Given the description of an element on the screen output the (x, y) to click on. 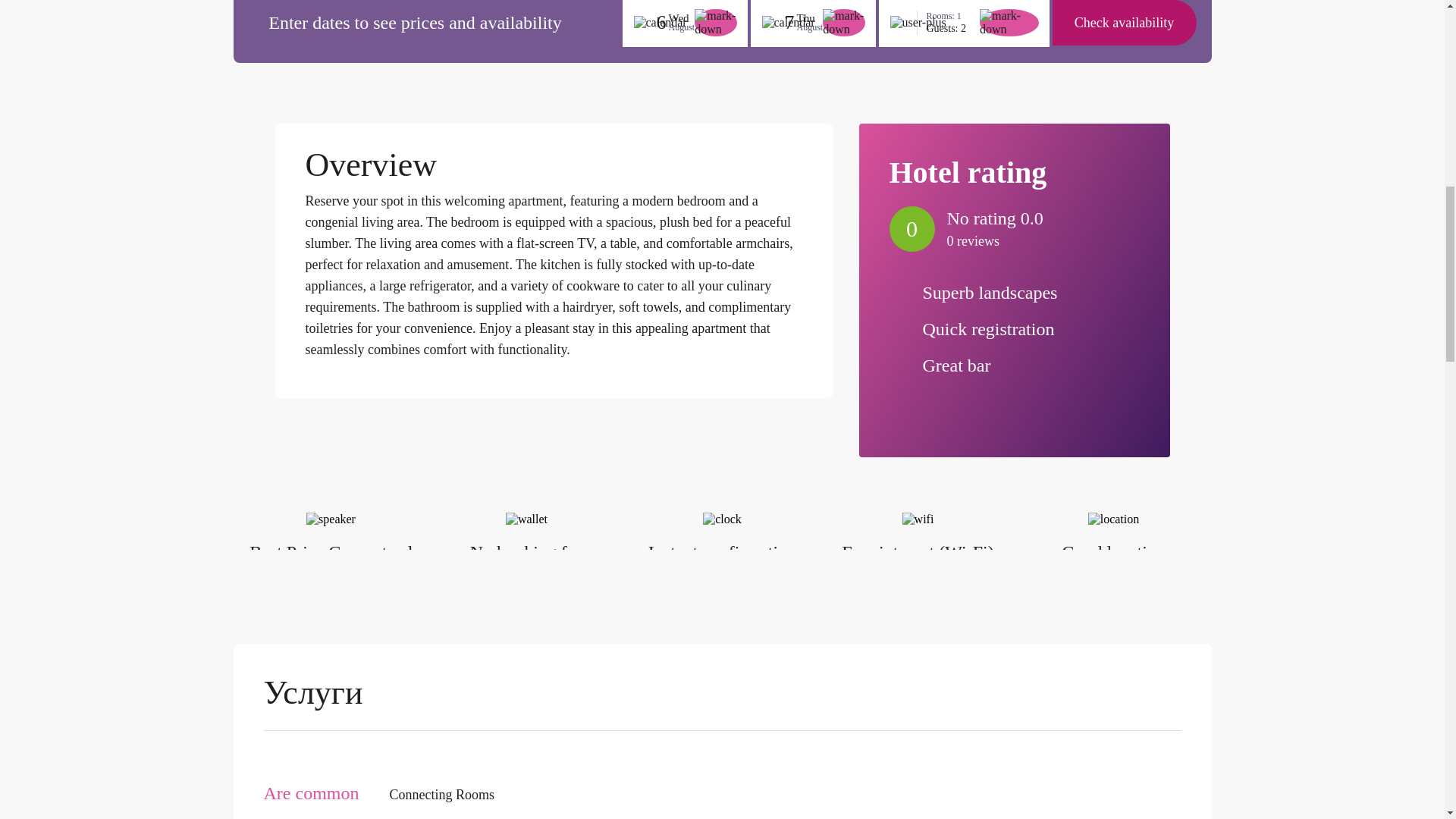
Rooms: 1 (949, 16)
Guests: 2 (949, 28)
Guests: 2 (949, 28)
Rooms: 1 (949, 16)
